Given the description of an element on the screen output the (x, y) to click on. 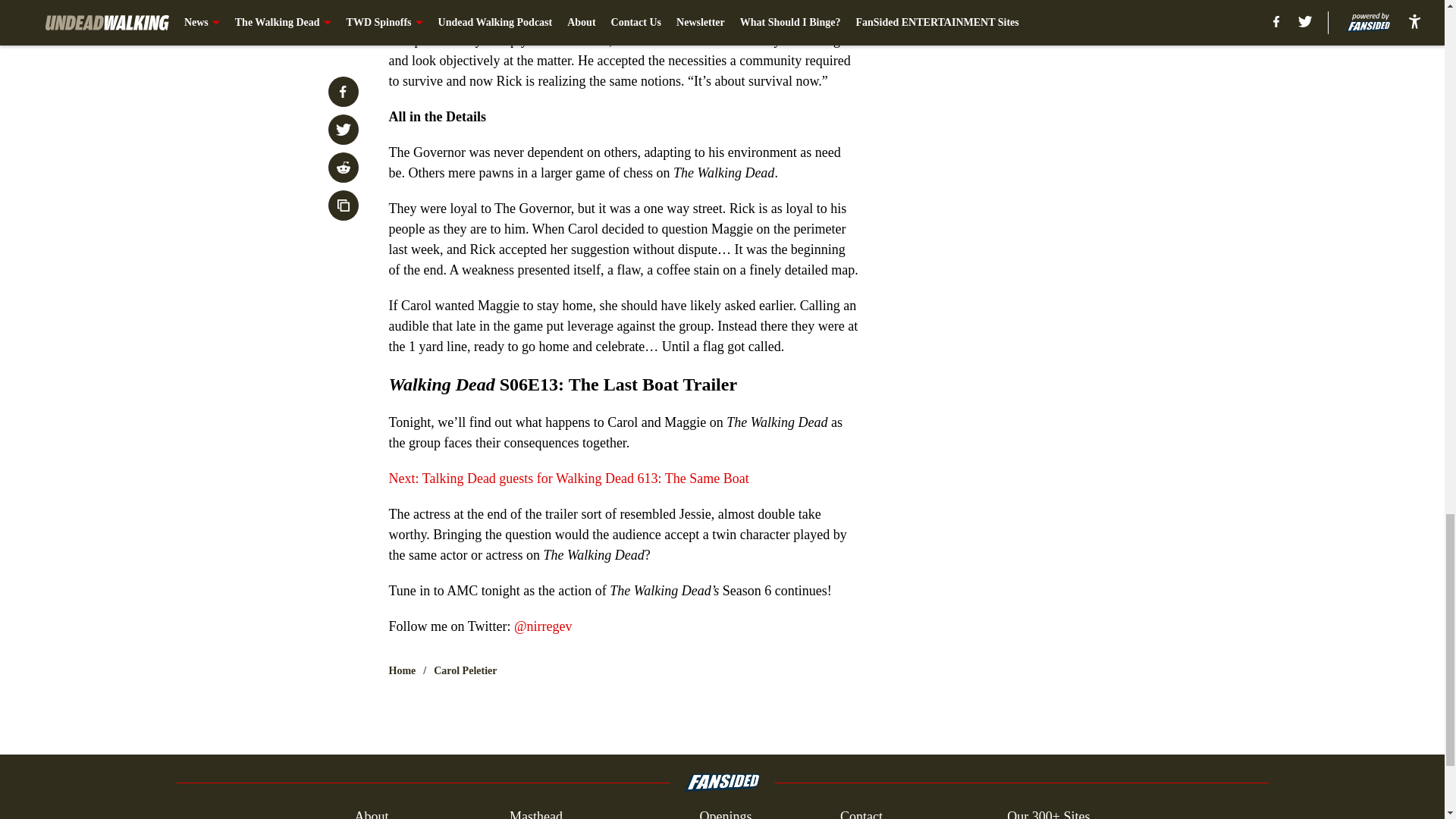
Home (401, 670)
Carol Peletier (464, 670)
